Given the description of an element on the screen output the (x, y) to click on. 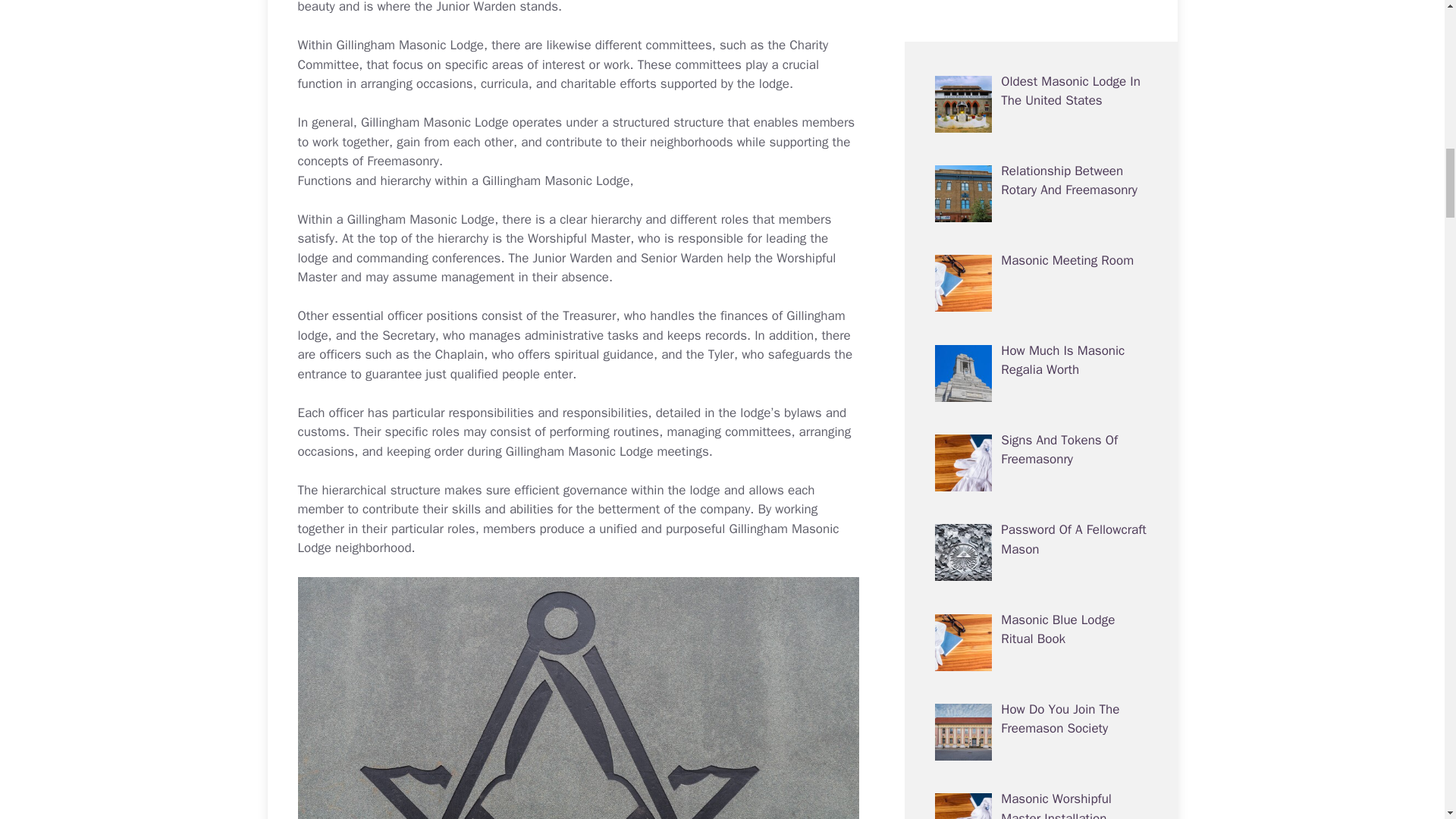
Masonic Desk Items (991, 486)
Masonic Swivel Signet Ring (1010, 512)
First Freemason In History (1053, 90)
How Many Known Masons Signed The Declaration Of Independence (1056, 289)
Freemason Gloves Meaning (1053, 180)
Freemason Greeting Handshake (1024, 460)
